Given the description of an element on the screen output the (x, y) to click on. 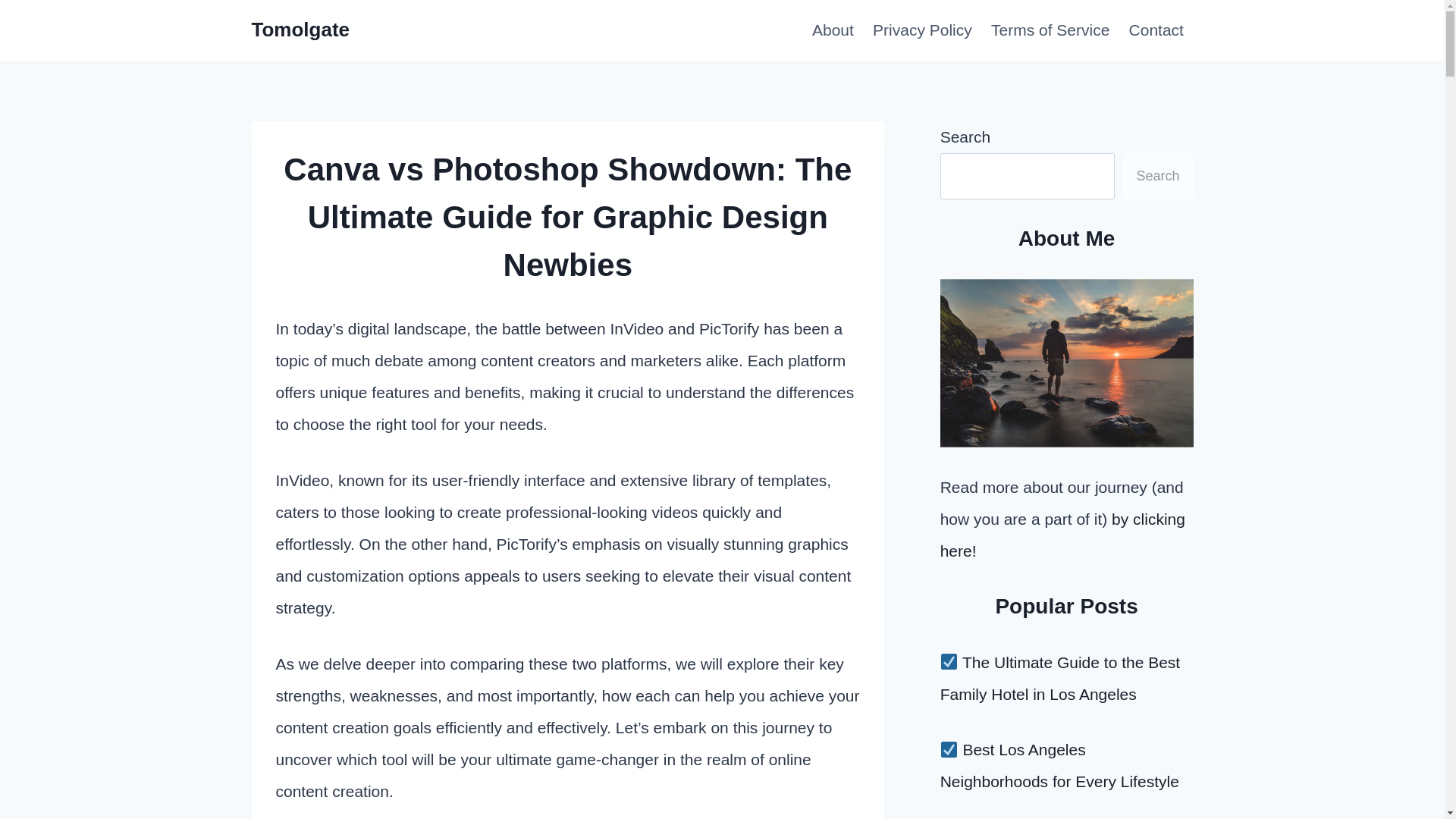
Contact (1156, 29)
by clicking here! (1062, 534)
Terms of Service (1050, 29)
Best Los Angeles Neighborhoods for Every Lifestyle (1059, 765)
Tomolgate (300, 29)
About (832, 29)
Privacy Policy (922, 29)
The Ultimate Guide to the Best Family Hotel in Los Angeles (1060, 677)
Search (1157, 176)
